Given the description of an element on the screen output the (x, y) to click on. 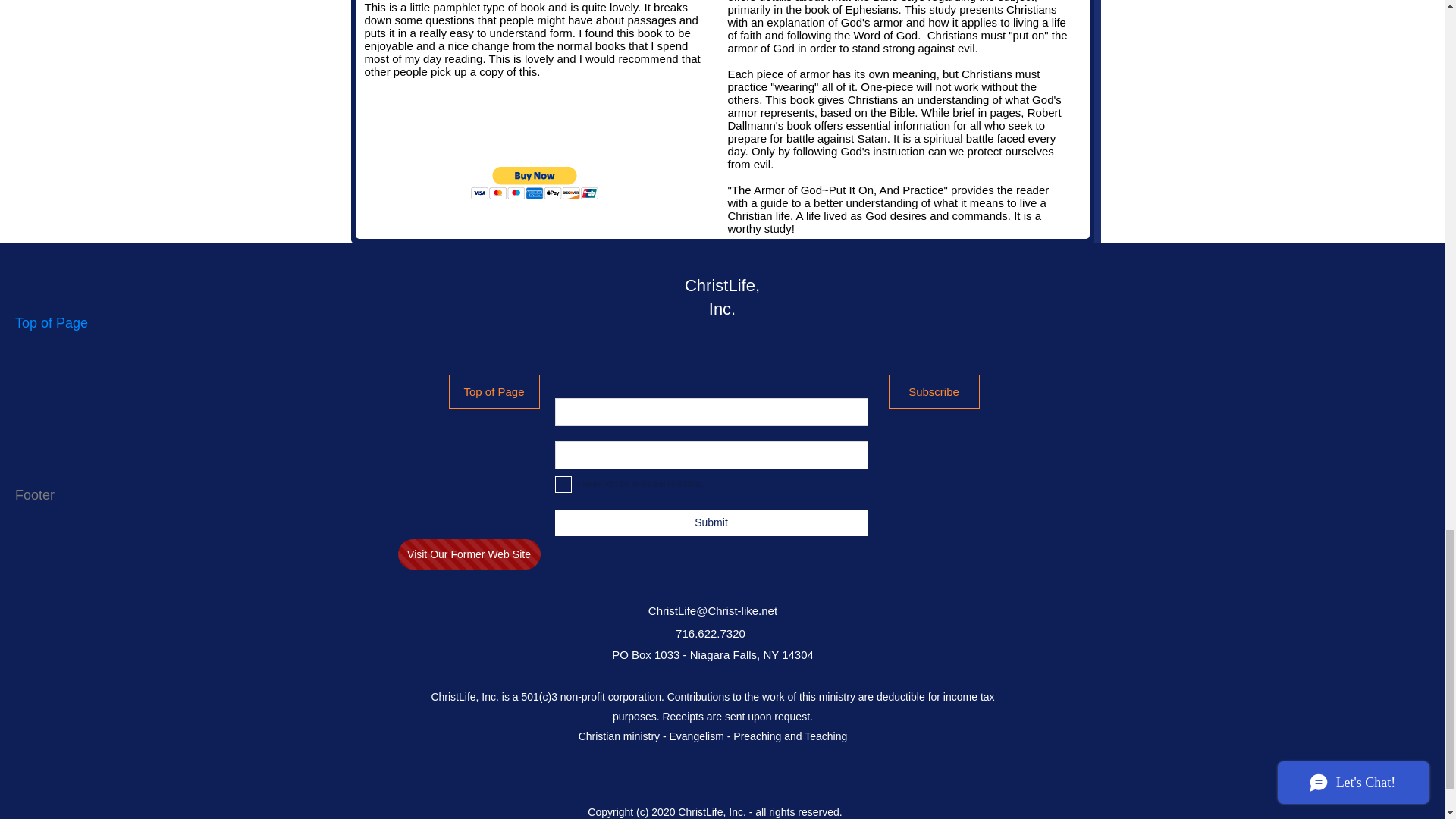
ChristLife, Inc. (722, 297)
Submit (710, 522)
Top of Page (494, 391)
Subscribe (933, 391)
Visit Our Former Web Site (468, 553)
